Given the description of an element on the screen output the (x, y) to click on. 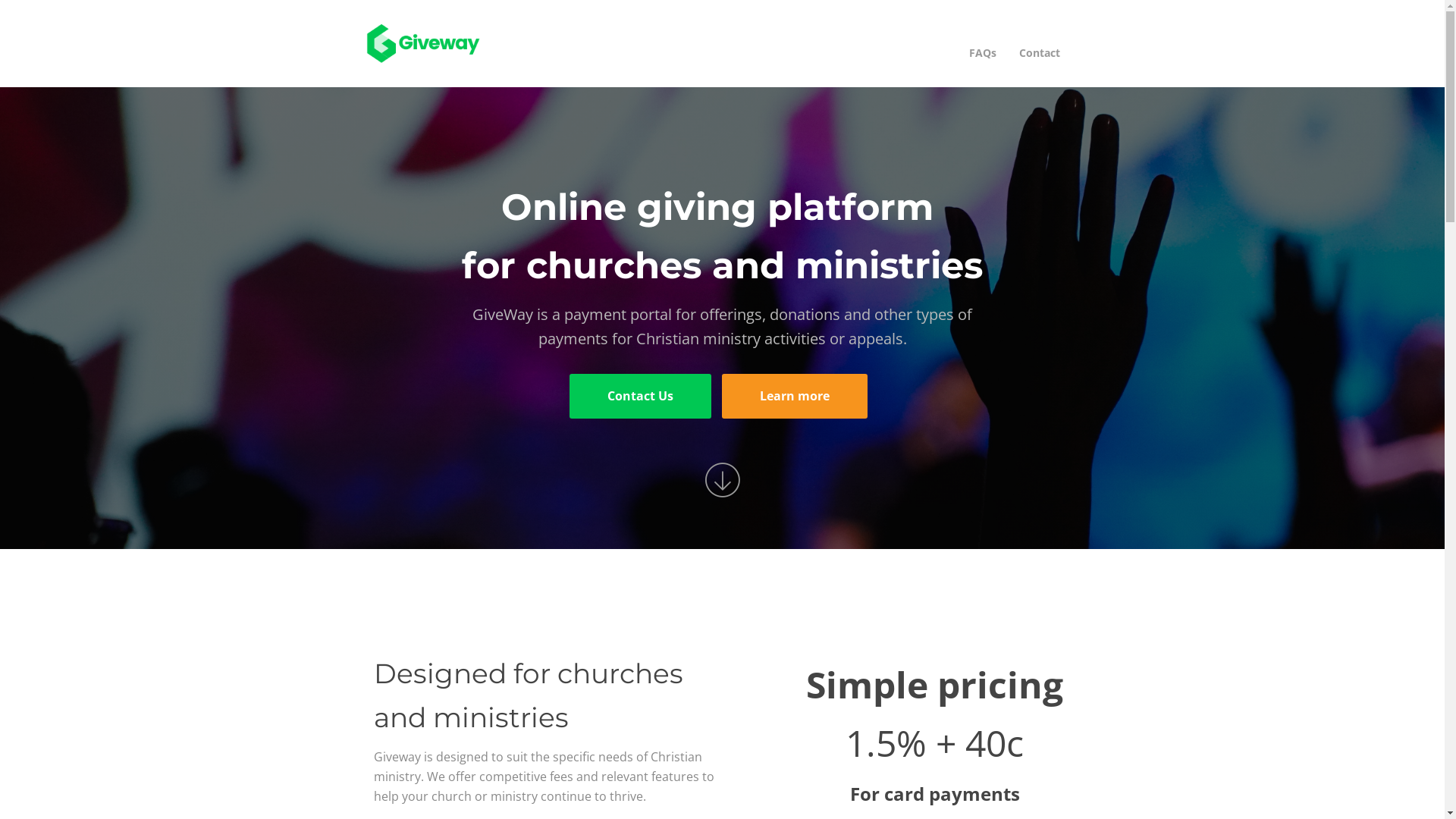
FAQs Element type: text (982, 53)
Learn more Element type: text (794, 395)
Contact Us Element type: text (640, 395)
Contact Element type: text (1038, 53)
